Given the description of an element on the screen output the (x, y) to click on. 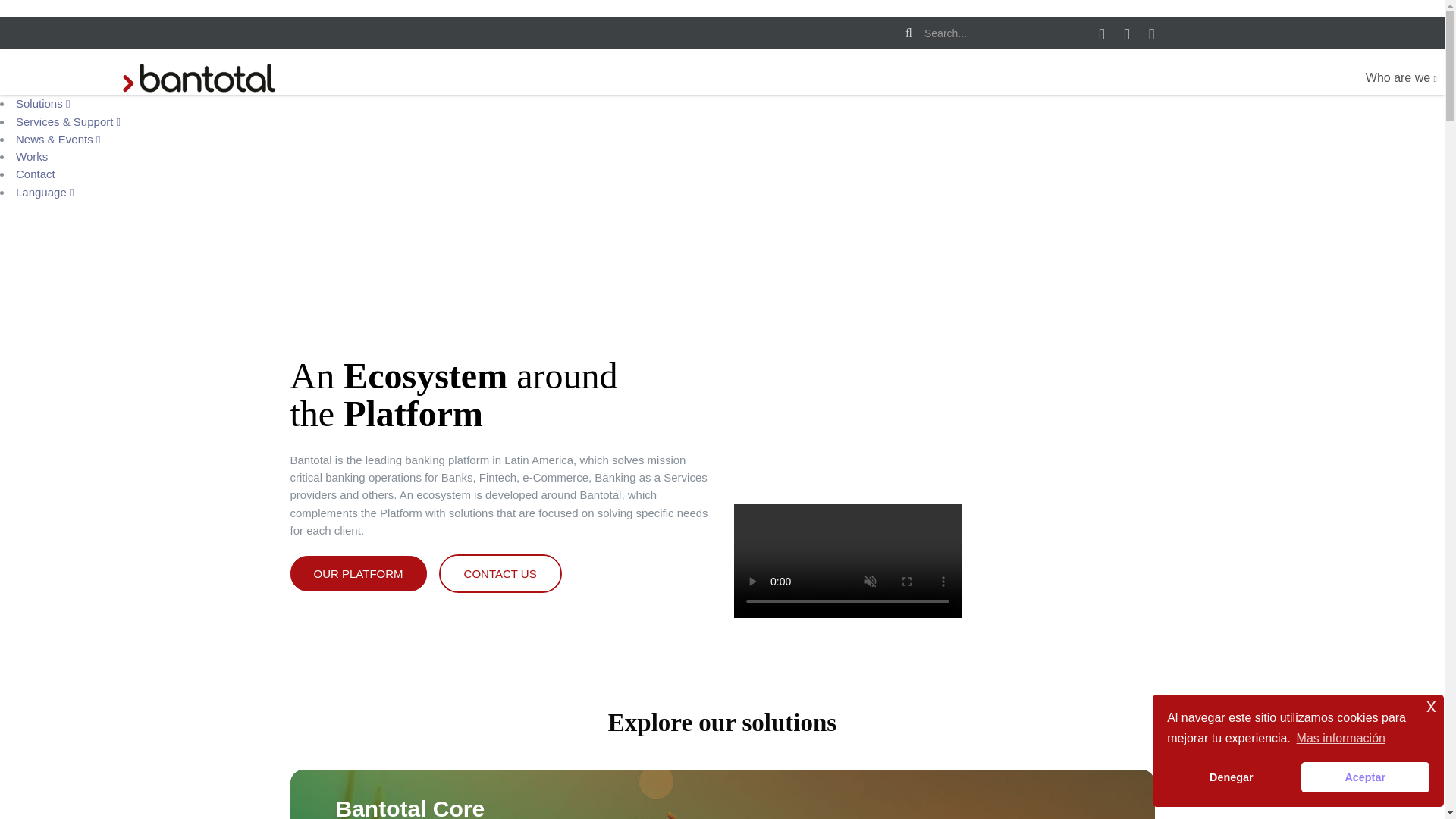
Solutions (42, 103)
Who are we (1401, 78)
Language (45, 191)
Contact (35, 173)
Works (32, 155)
